Given the description of an element on the screen output the (x, y) to click on. 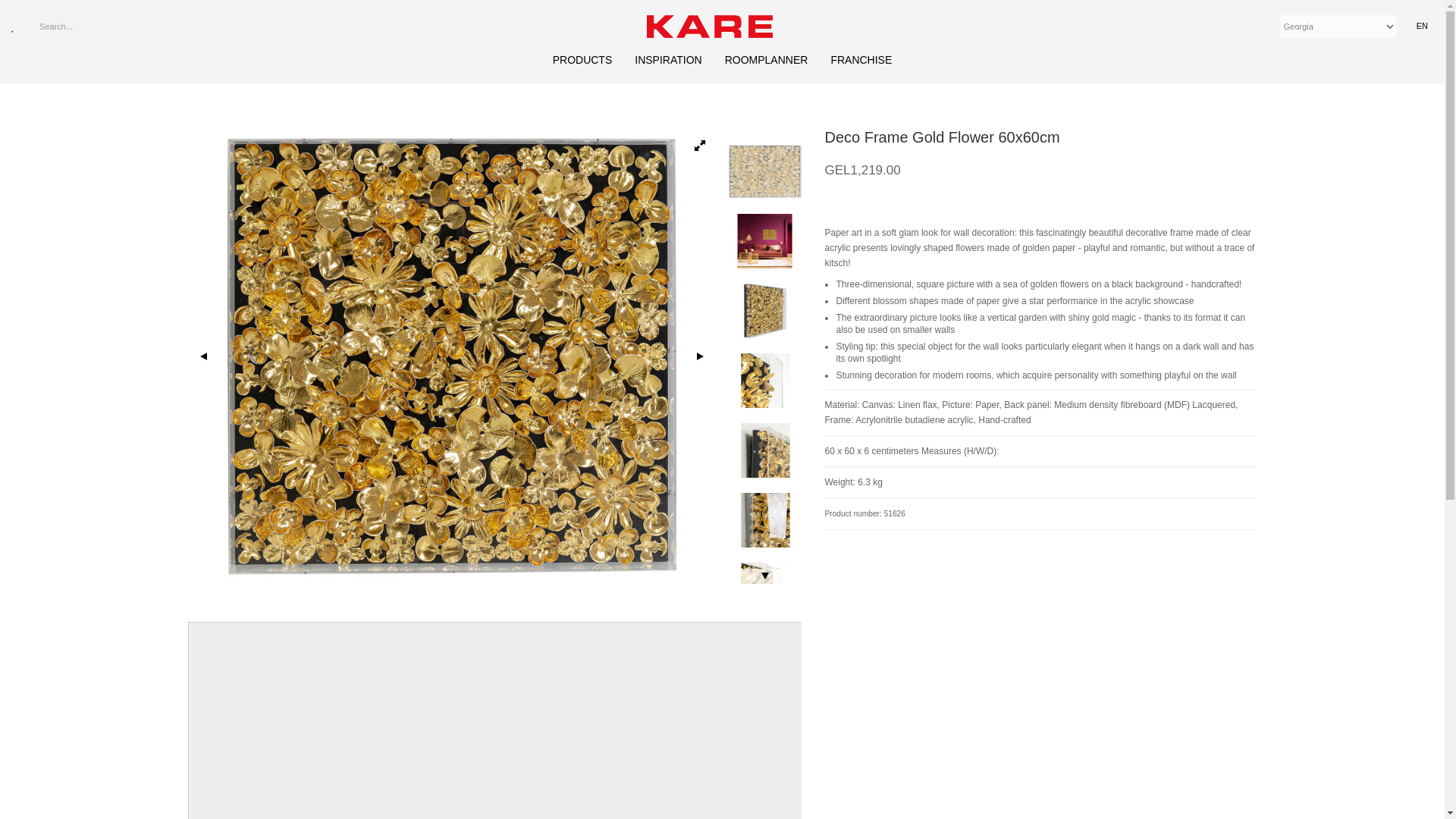
INSPIRATION (667, 60)
ROOMPLANNER (766, 60)
PRODUCTS (582, 60)
FRANCHISE (860, 60)
EN (1421, 26)
